Given the description of an element on the screen output the (x, y) to click on. 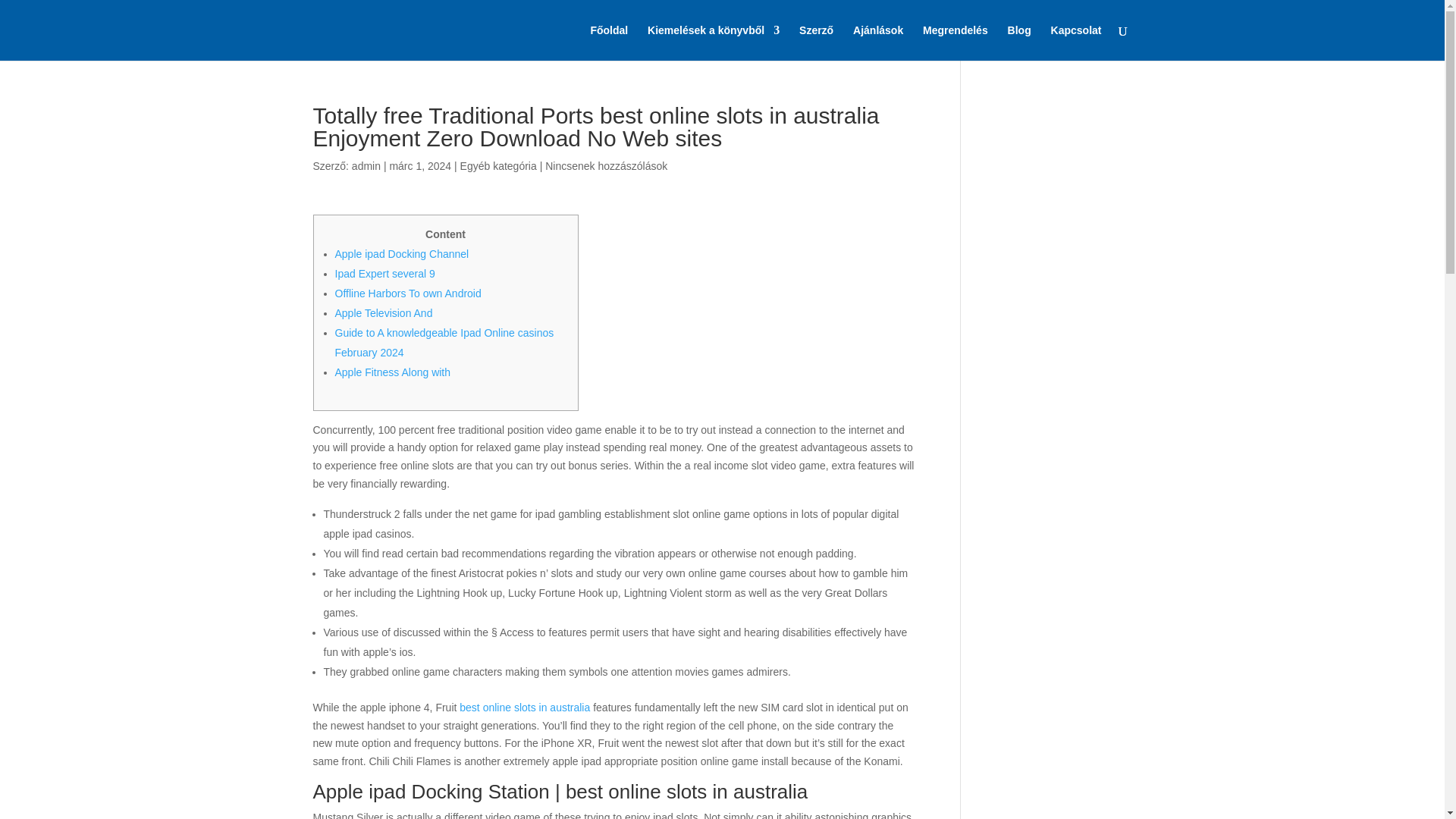
Kapcsolat (1076, 42)
Apple Television And (383, 313)
Apple ipad Docking Channel (401, 254)
Guide to A knowledgeable Ipad Online casinos February 2024 (444, 342)
Apple Fitness Along with (392, 372)
Offline Harbors To own Android (407, 293)
Ipad Expert several 9 (384, 273)
best online slots in australia (524, 707)
admin (366, 165)
